Given the description of an element on the screen output the (x, y) to click on. 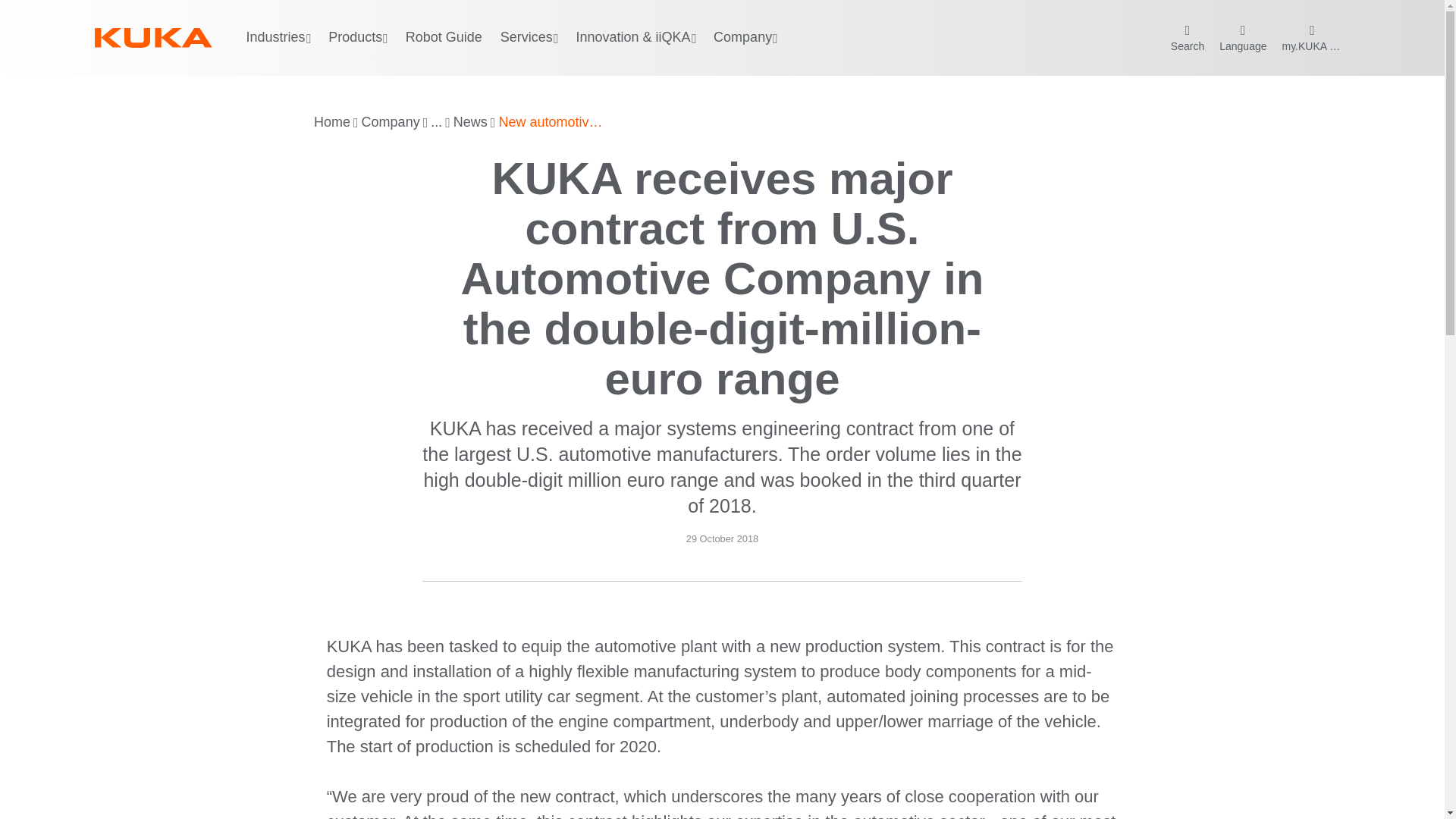
Company (390, 122)
Home (332, 122)
New automotive order for KUKA (551, 122)
News (469, 122)
